Given the description of an element on the screen output the (x, y) to click on. 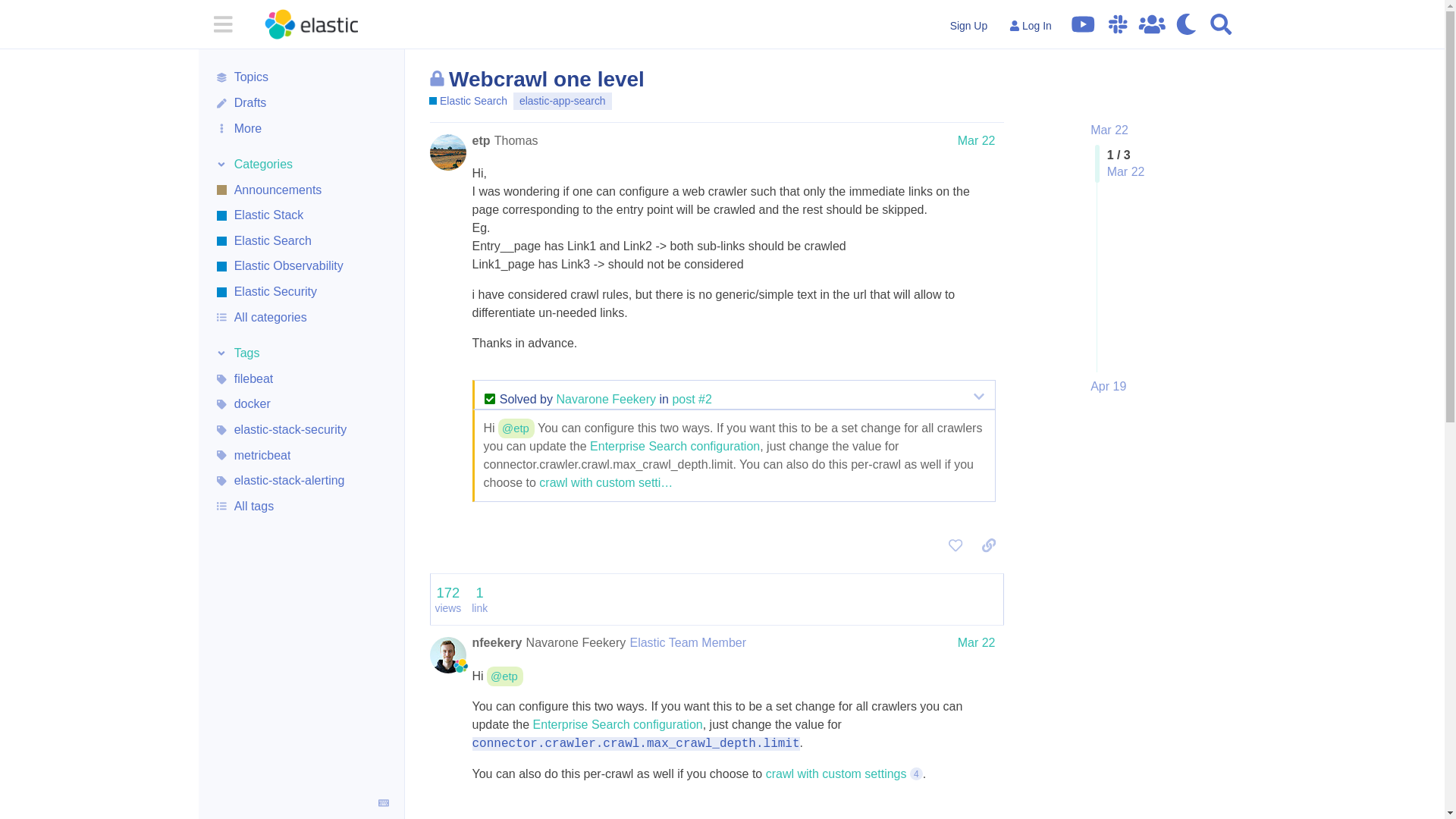
Elastic Community Events (1152, 23)
Toggle section (301, 164)
elastic-stack-security (301, 429)
docker (301, 404)
Topics (301, 77)
Navarone Feekery (606, 399)
Drafts (301, 103)
Toggle color scheme (1185, 24)
Elastic Community Youtube Channel (1082, 23)
